Given the description of an element on the screen output the (x, y) to click on. 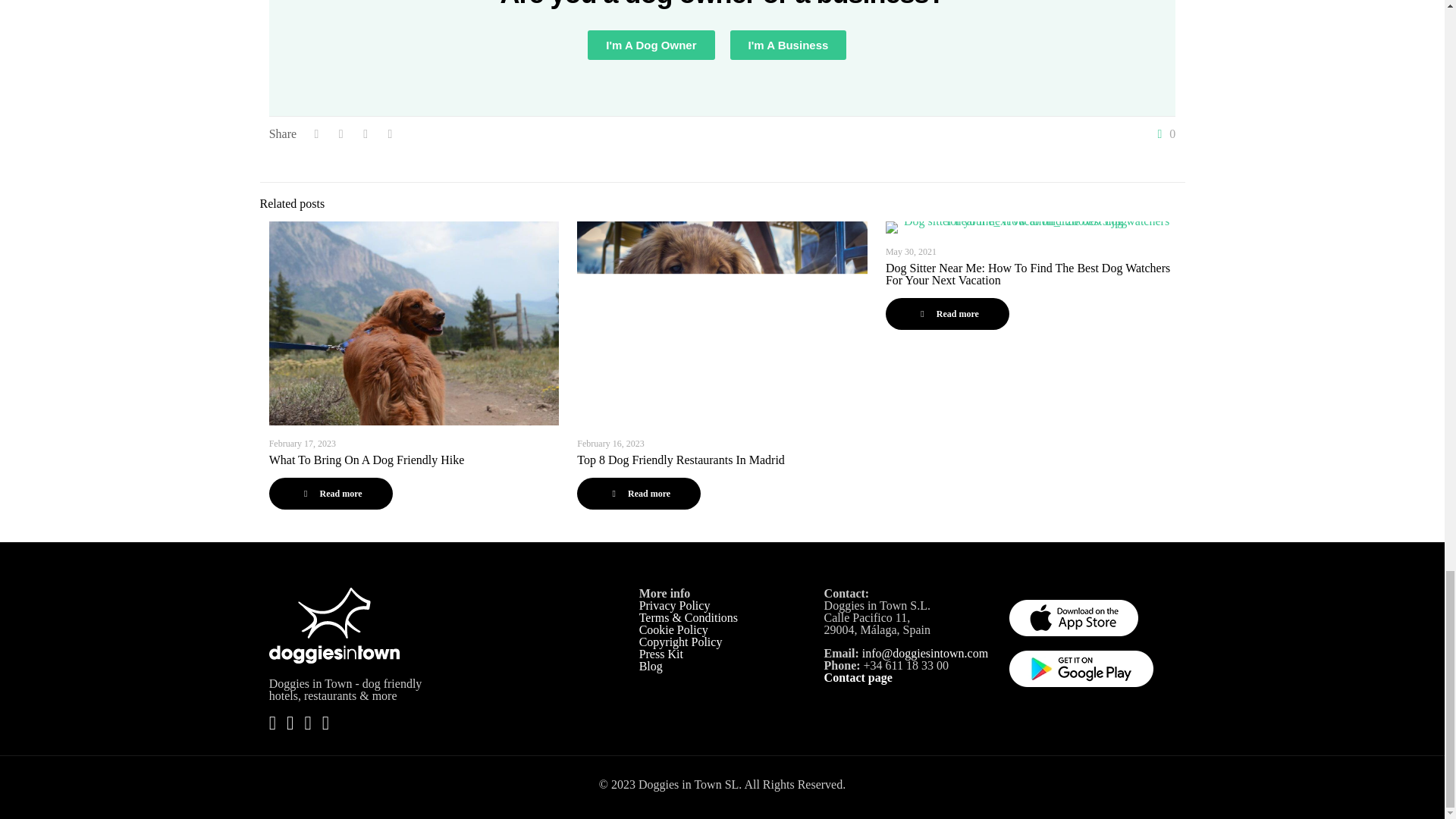
What To Bring On A Dog Friendly Hike (366, 459)
I'm A Dog Owner (651, 44)
Read more (331, 493)
0 (1162, 133)
I'm A Business (787, 44)
